Given the description of an element on the screen output the (x, y) to click on. 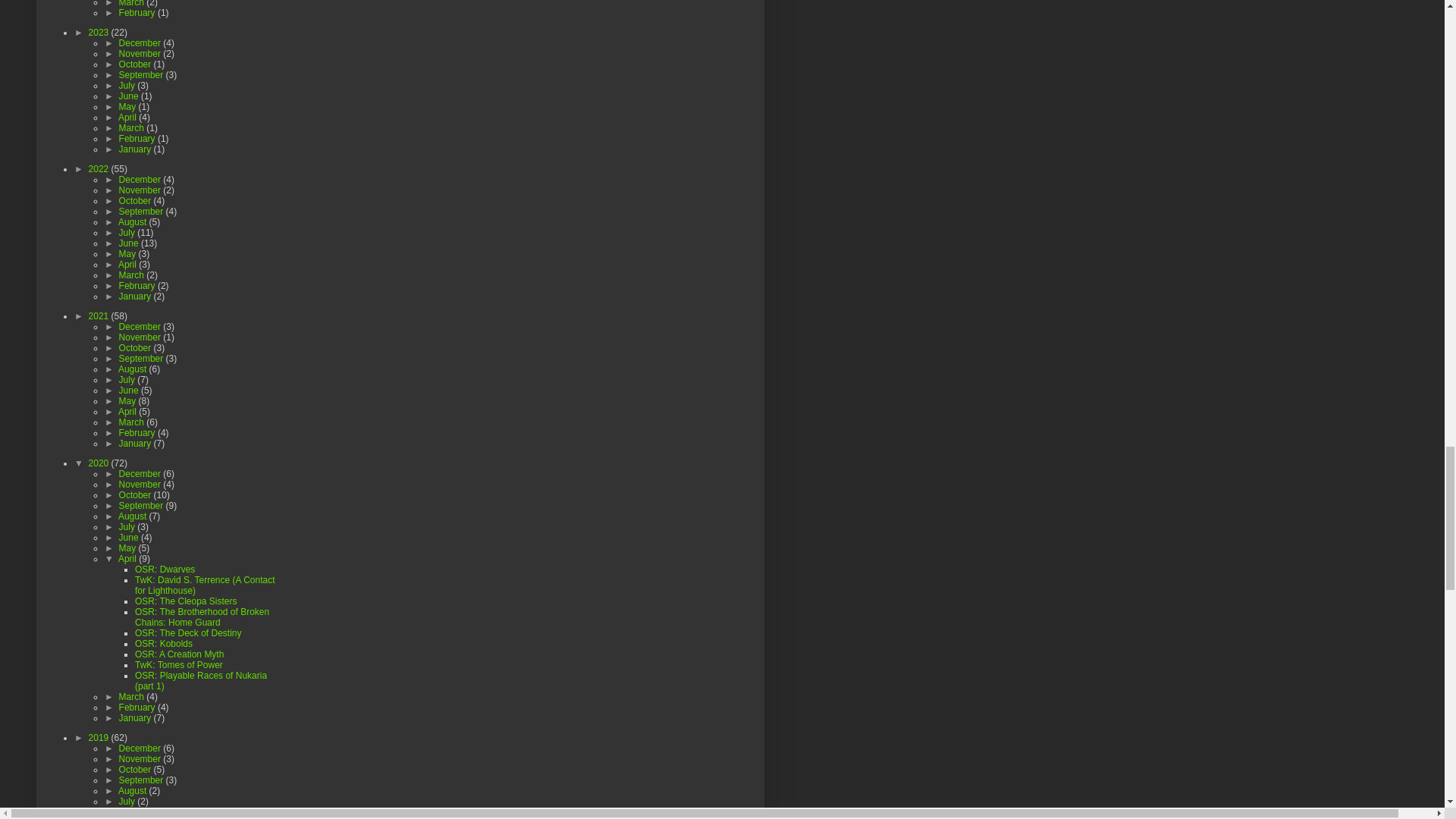
February (138, 12)
March (133, 3)
